Given the description of an element on the screen output the (x, y) to click on. 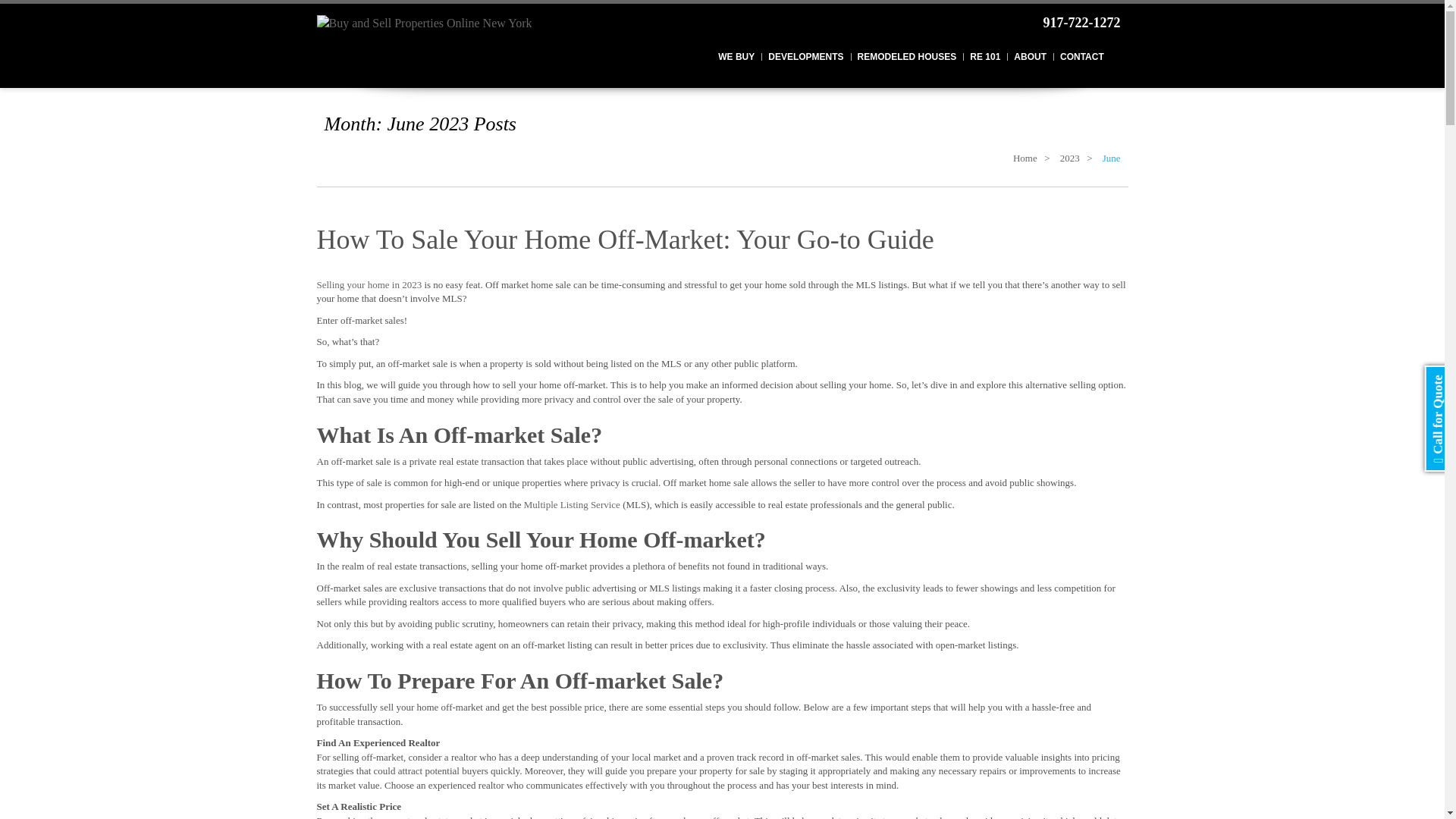
DEVELOPMENTS (805, 56)
Selling your home in 2023 (369, 284)
2023 (1069, 157)
ABOUT (1029, 56)
WE BUY (736, 56)
917-722-1272 (1071, 24)
CONTACT (1081, 56)
Multiple Listing Service (572, 504)
REMODELED HOUSES (906, 56)
Home (1024, 157)
RE 101 (984, 56)
